Given the description of an element on the screen output the (x, y) to click on. 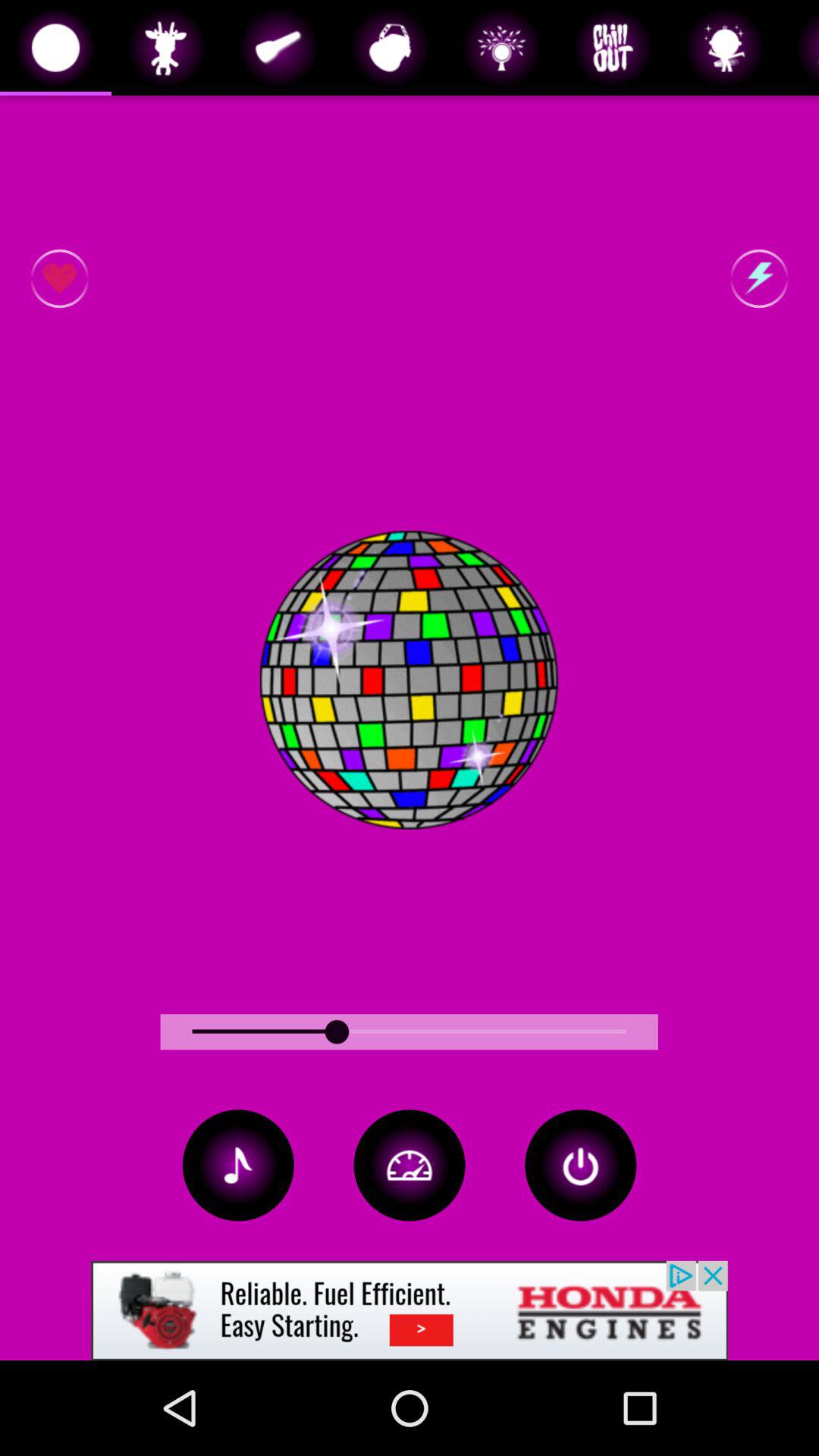
toggle music (238, 1165)
